Given the description of an element on the screen output the (x, y) to click on. 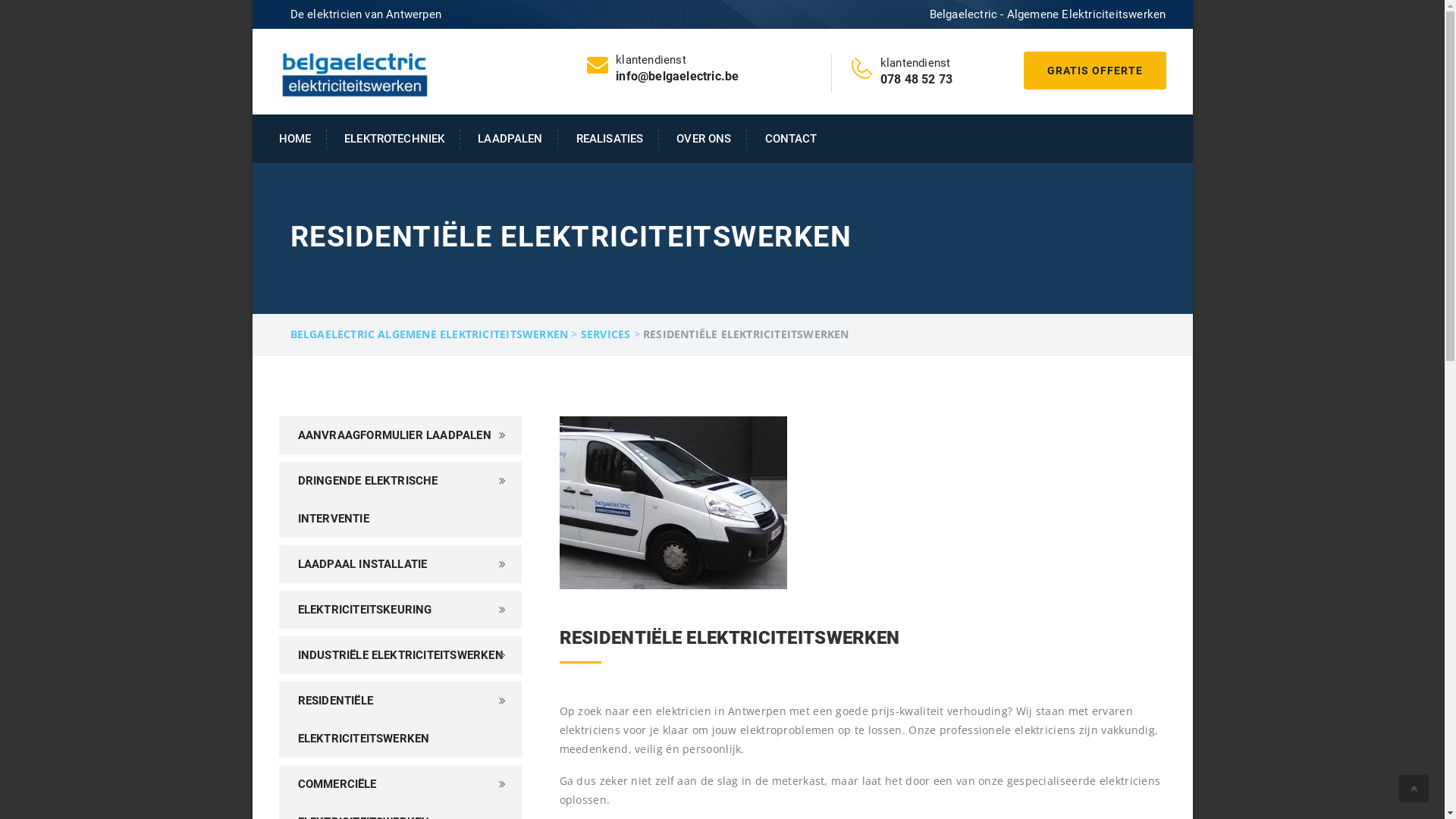
LAADPAAL INSTALLATIE Element type: text (400, 564)
BELGAELECTRIC ALGEMENE ELEKTRICITEITSWERKEN Element type: text (428, 334)
SERVICES Element type: text (605, 334)
AANVRAAGFORMULIER LAADPALEN Element type: text (400, 435)
Belgaelectric Algemene Elektriciteitswerken Element type: hover (354, 73)
HOME Element type: text (302, 138)
ELEKTRICITEITSKEURING Element type: text (400, 609)
DRINGENDE ELEKTRISCHE INTERVENTIE Element type: text (400, 499)
Electricien Antwerpen Element type: hover (673, 502)
REALISATIES Element type: text (609, 138)
LAADPALEN Element type: text (510, 138)
OVER ONS Element type: text (704, 138)
GRATIS OFFERTE Element type: text (1094, 70)
CONTACT Element type: text (782, 138)
ELEKTROTECHNIEK Element type: text (394, 138)
